Given the description of an element on the screen output the (x, y) to click on. 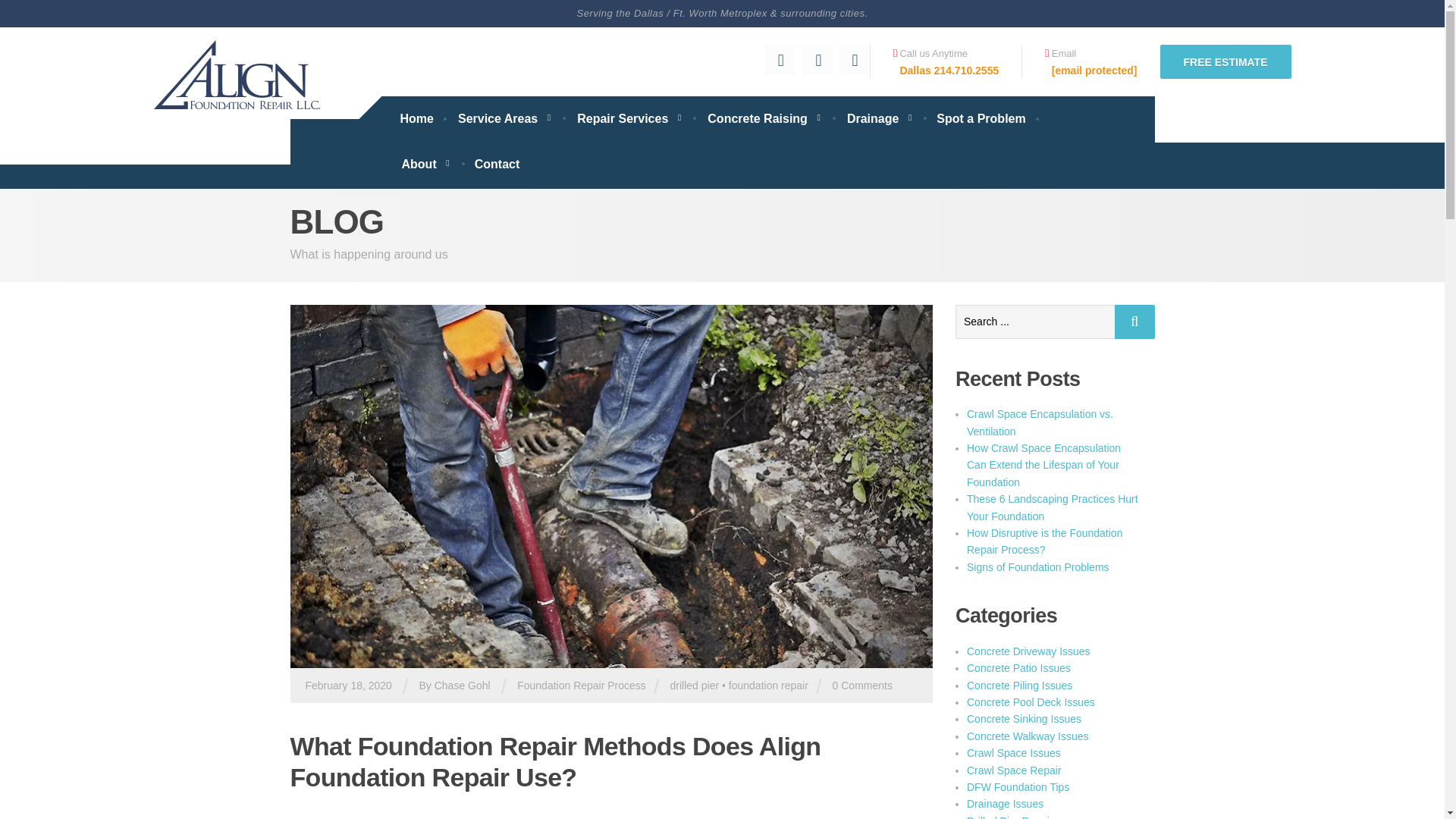
Repair Services (629, 118)
Service Areas (504, 118)
Spot a Problem (980, 118)
Home (416, 118)
About (425, 163)
Drainage (879, 118)
Concrete Raising (764, 118)
